Given the description of an element on the screen output the (x, y) to click on. 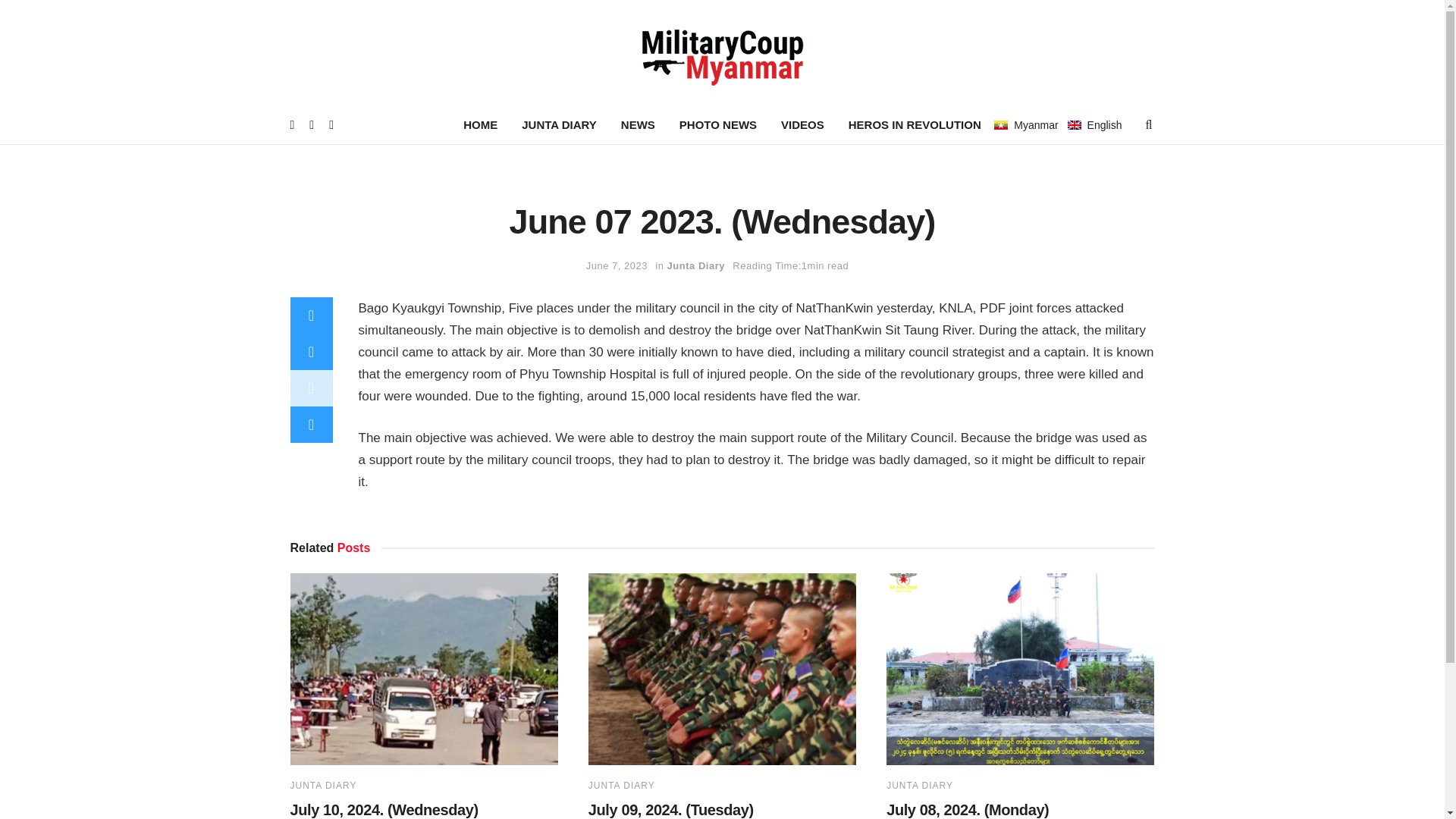
June 7, 2023 (616, 265)
HEROS IN REVOLUTION (913, 125)
Myanmar (1000, 124)
Junta Diary (695, 265)
English (1074, 124)
English (1094, 124)
NEWS (637, 125)
HOME (480, 125)
Myanmar (1026, 124)
JUNTA DIARY (322, 785)
JUNTA DIARY (558, 125)
VIDEOS (801, 125)
PHOTO NEWS (717, 125)
